Given the description of an element on the screen output the (x, y) to click on. 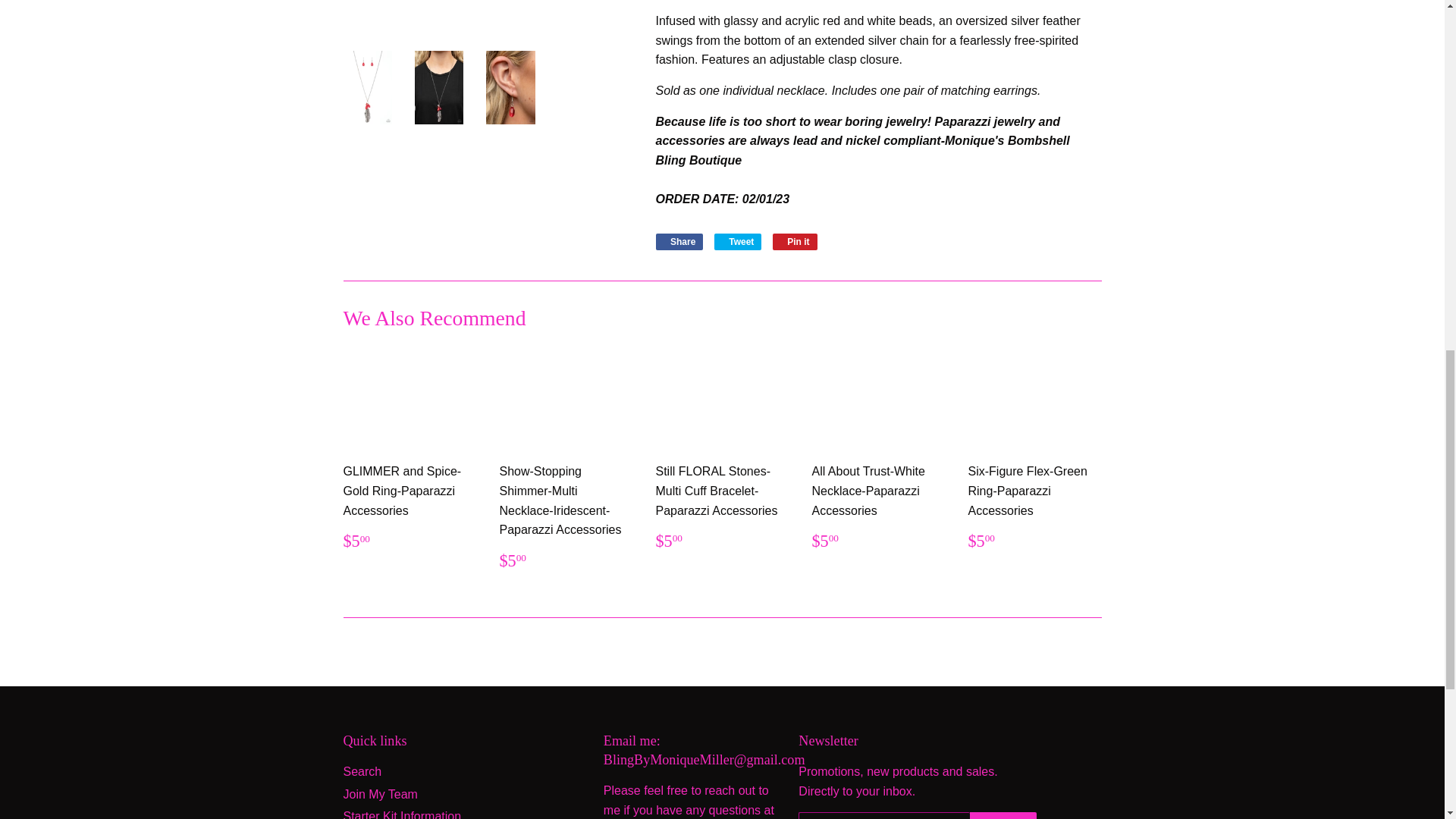
Pin on Pinterest (794, 241)
Tweet on Twitter (737, 241)
Share on Facebook (679, 241)
